Given the description of an element on the screen output the (x, y) to click on. 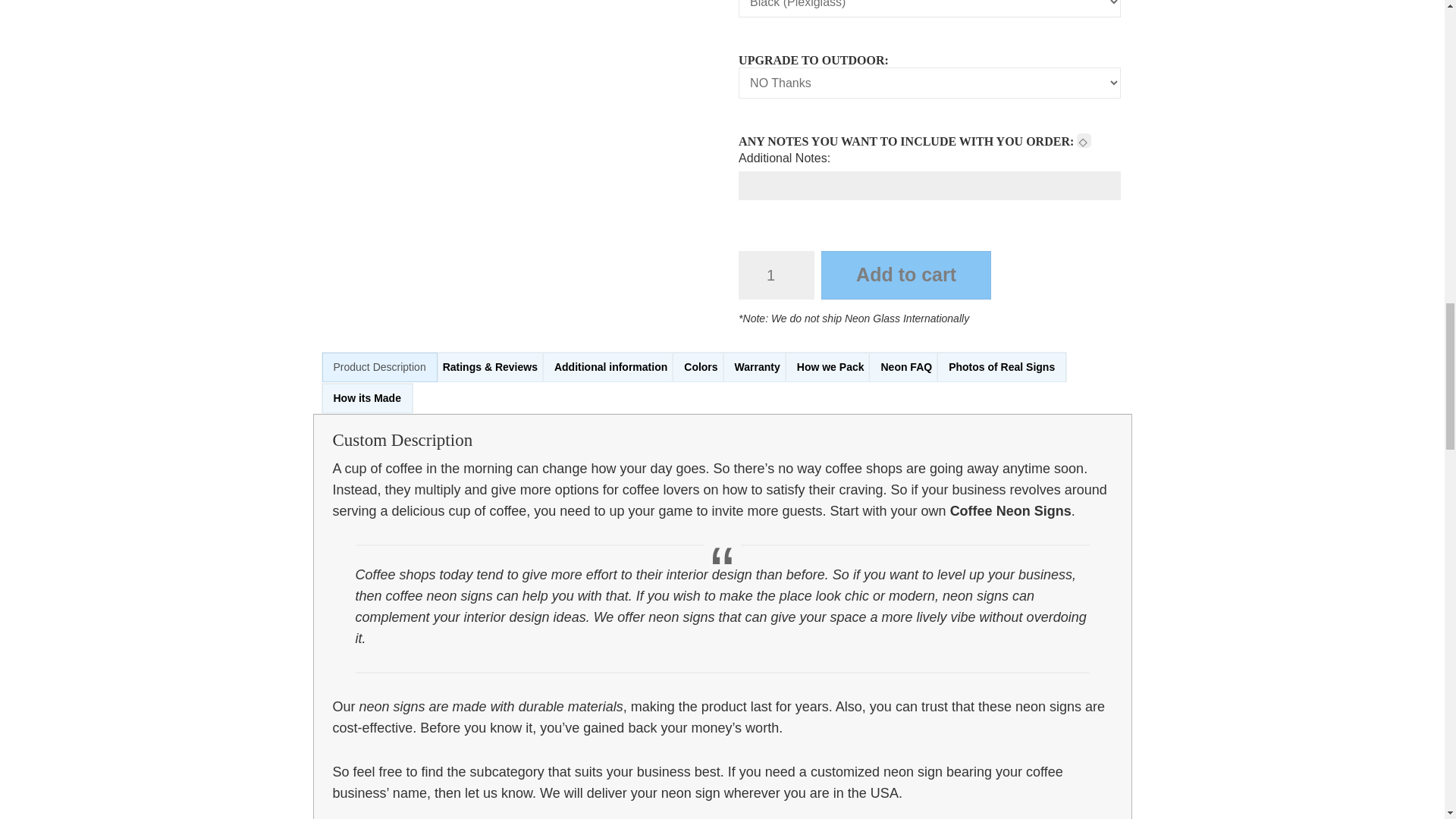
Colors (700, 367)
Additional information (610, 367)
How we Pack (831, 367)
Warranty (757, 367)
Neon FAQ (906, 367)
1 (775, 274)
Add to cart (906, 274)
Qty (775, 274)
Product Description (378, 367)
